Given the description of an element on the screen output the (x, y) to click on. 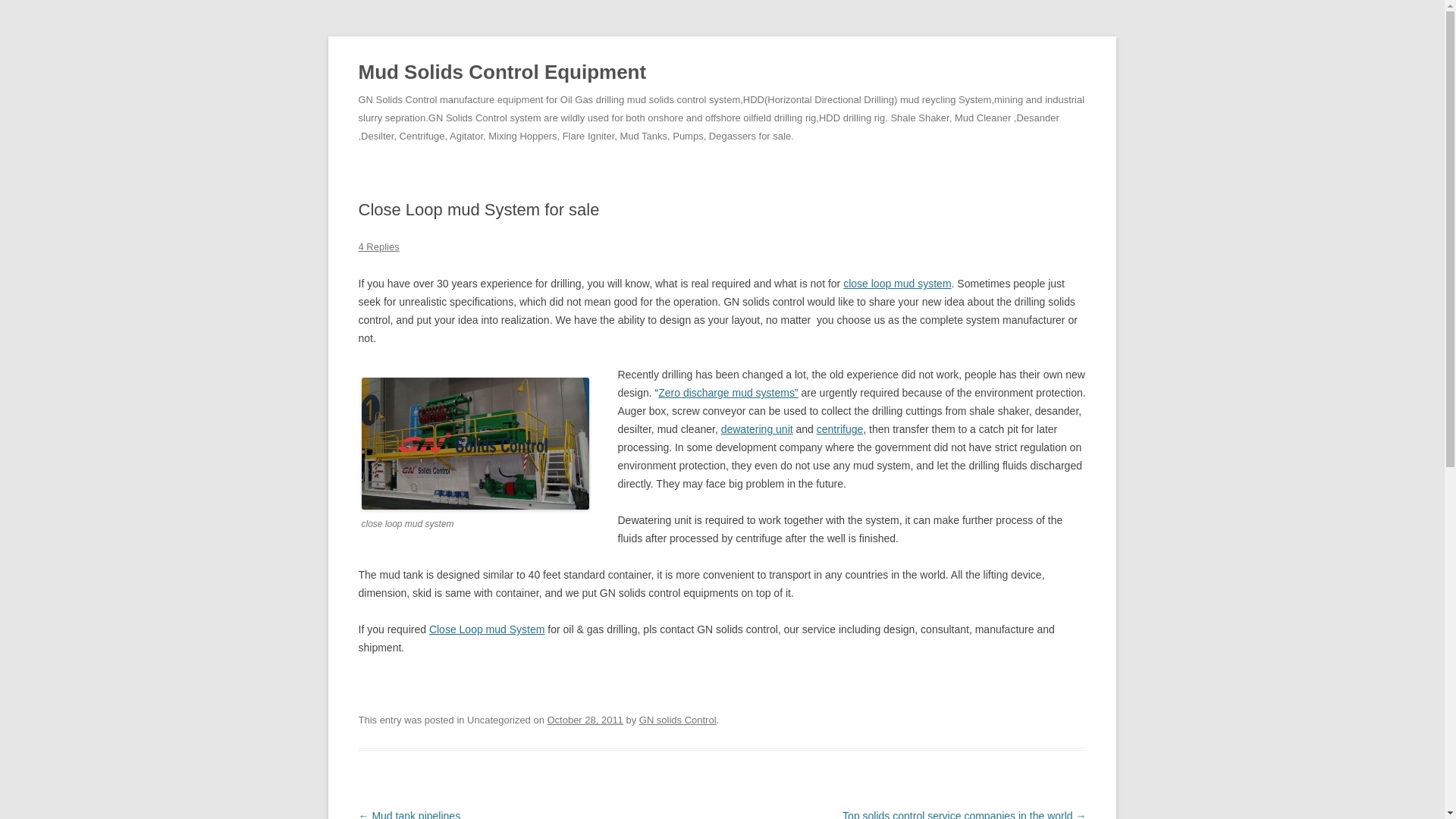
zero discharge mud system (727, 392)
4 Replies (378, 246)
Close Loop mud System (486, 629)
close loop mud system (474, 443)
GN solids Control (677, 719)
close loop mud system (896, 283)
centrifuge (839, 428)
centrifuge (839, 428)
dewatering unit (756, 428)
October 28, 2011 (585, 719)
10:42 pm (585, 719)
close loop mud system (896, 283)
View all posts by GN solids Control (677, 719)
dewatering unit (756, 428)
